Given the description of an element on the screen output the (x, y) to click on. 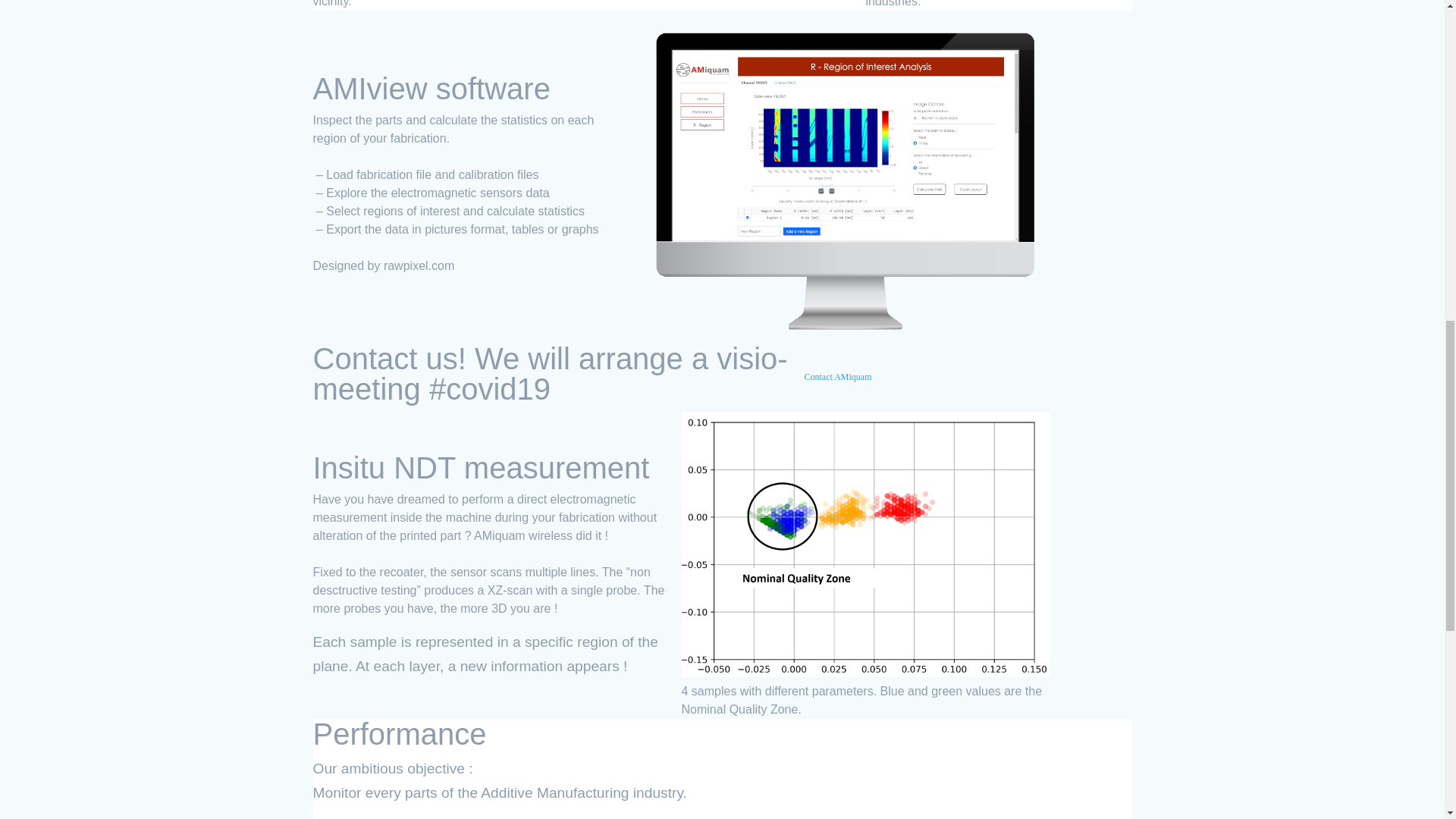
Contact AMiquam (845, 380)
Designed by rawpixel.com (383, 270)
quality-zone (865, 544)
